Given the description of an element on the screen output the (x, y) to click on. 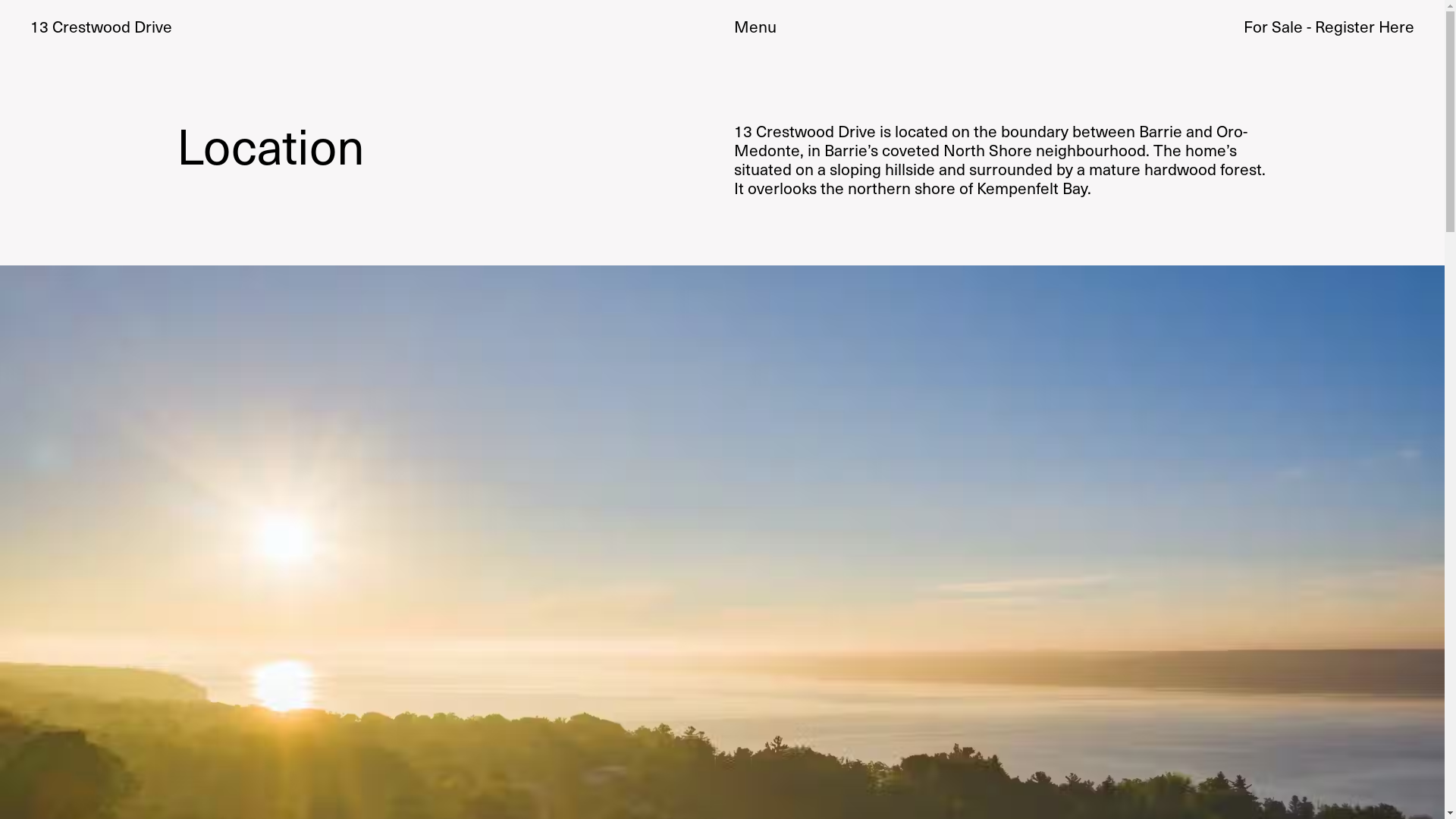
13 Crestwood Drive Element type: text (101, 25)
Menu Element type: text (755, 26)
For Sale - Register Here Element type: text (1328, 26)
